Given the description of an element on the screen output the (x, y) to click on. 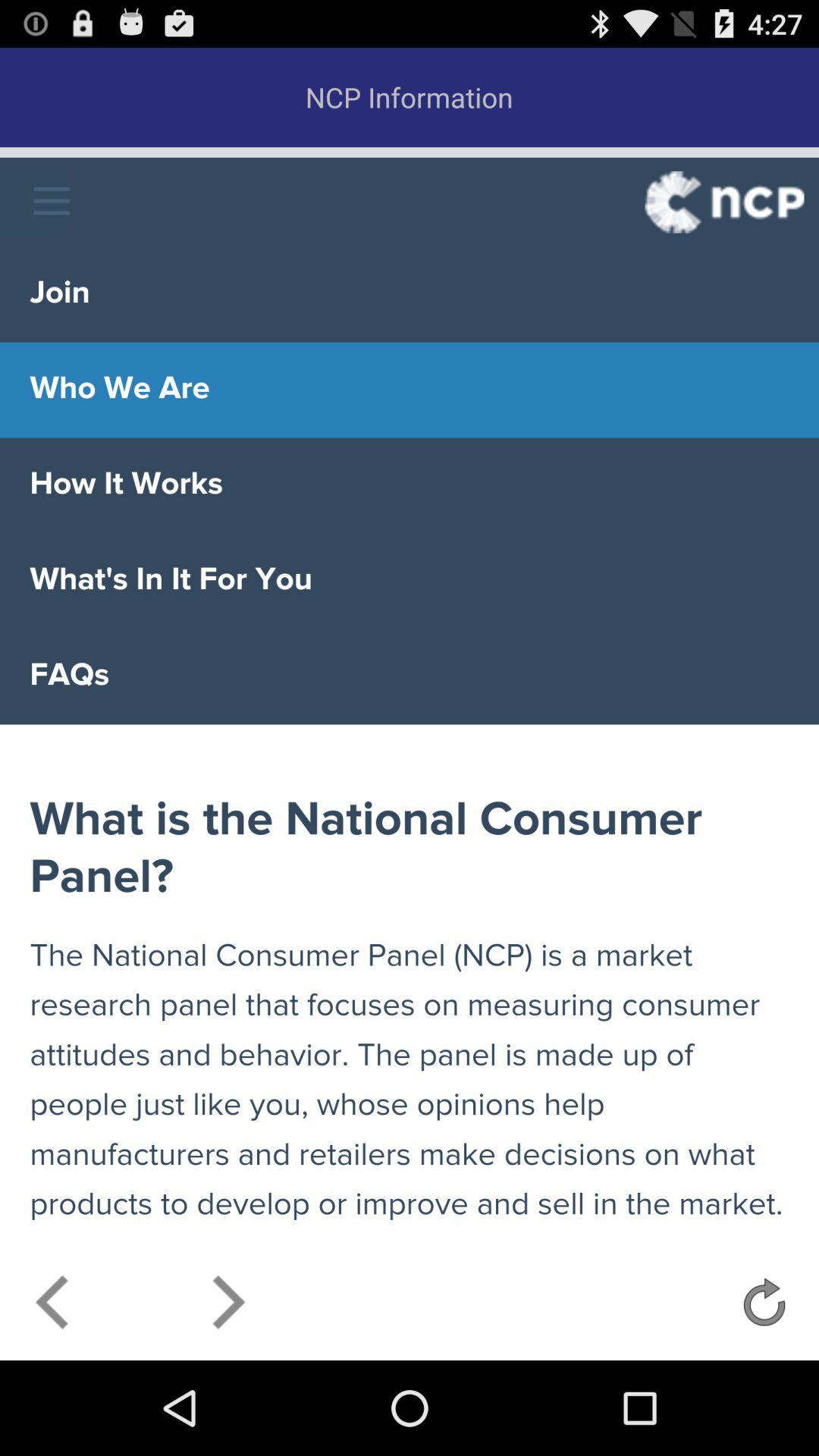
go to previous (53, 1306)
